Given the description of an element on the screen output the (x, y) to click on. 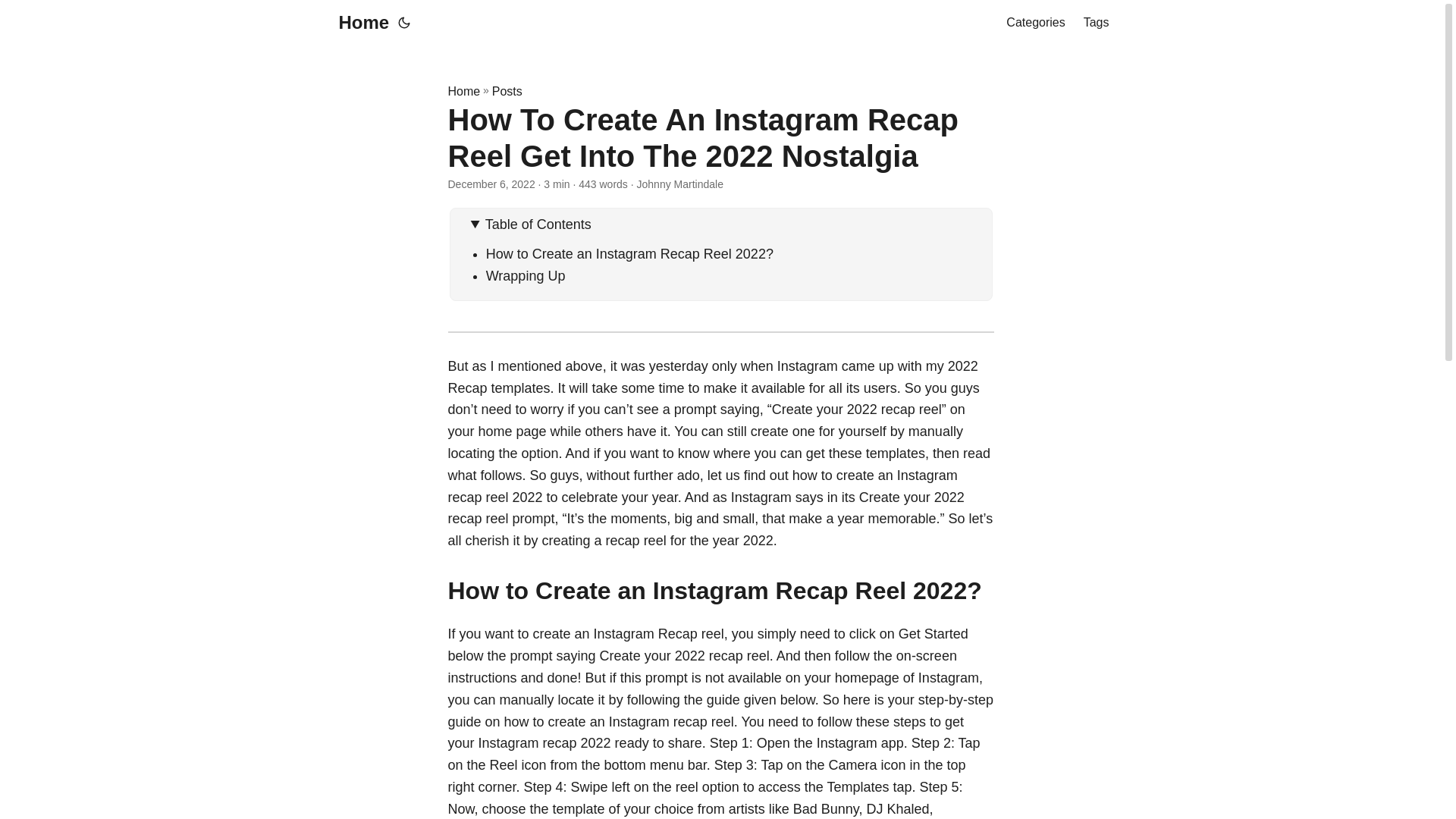
Posts (507, 91)
Home (359, 22)
How to Create an Instagram Recap Reel 2022? (629, 253)
Categories (1035, 22)
Home (463, 91)
Wrapping Up (526, 275)
Categories (1035, 22)
